Given the description of an element on the screen output the (x, y) to click on. 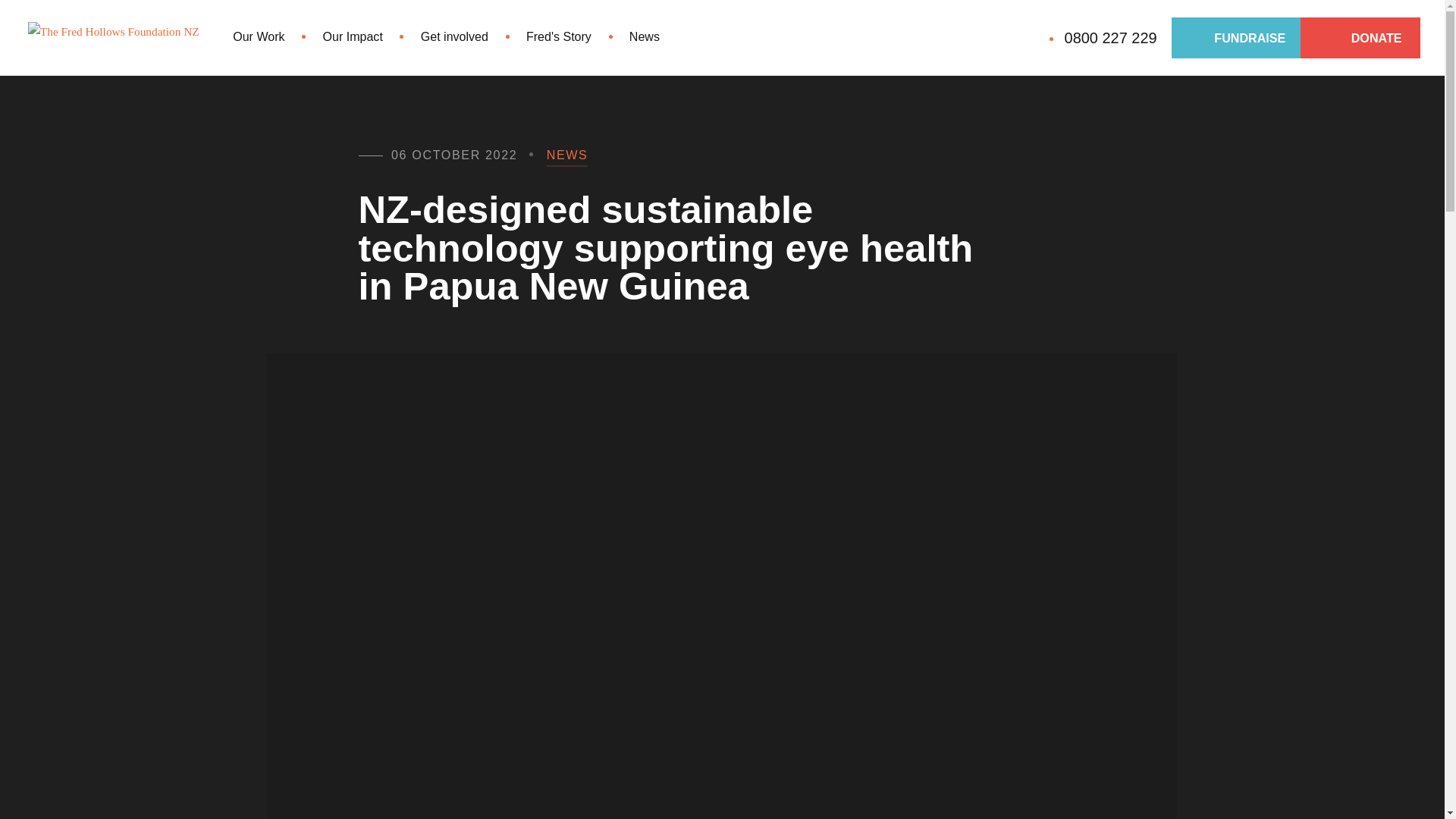
FUNDRAISE (1238, 37)
Search (1030, 38)
Our Impact (351, 37)
0800 227 229 (1110, 38)
Get involved (453, 37)
Our Work (257, 37)
DONATE (1360, 37)
